Given the description of an element on the screen output the (x, y) to click on. 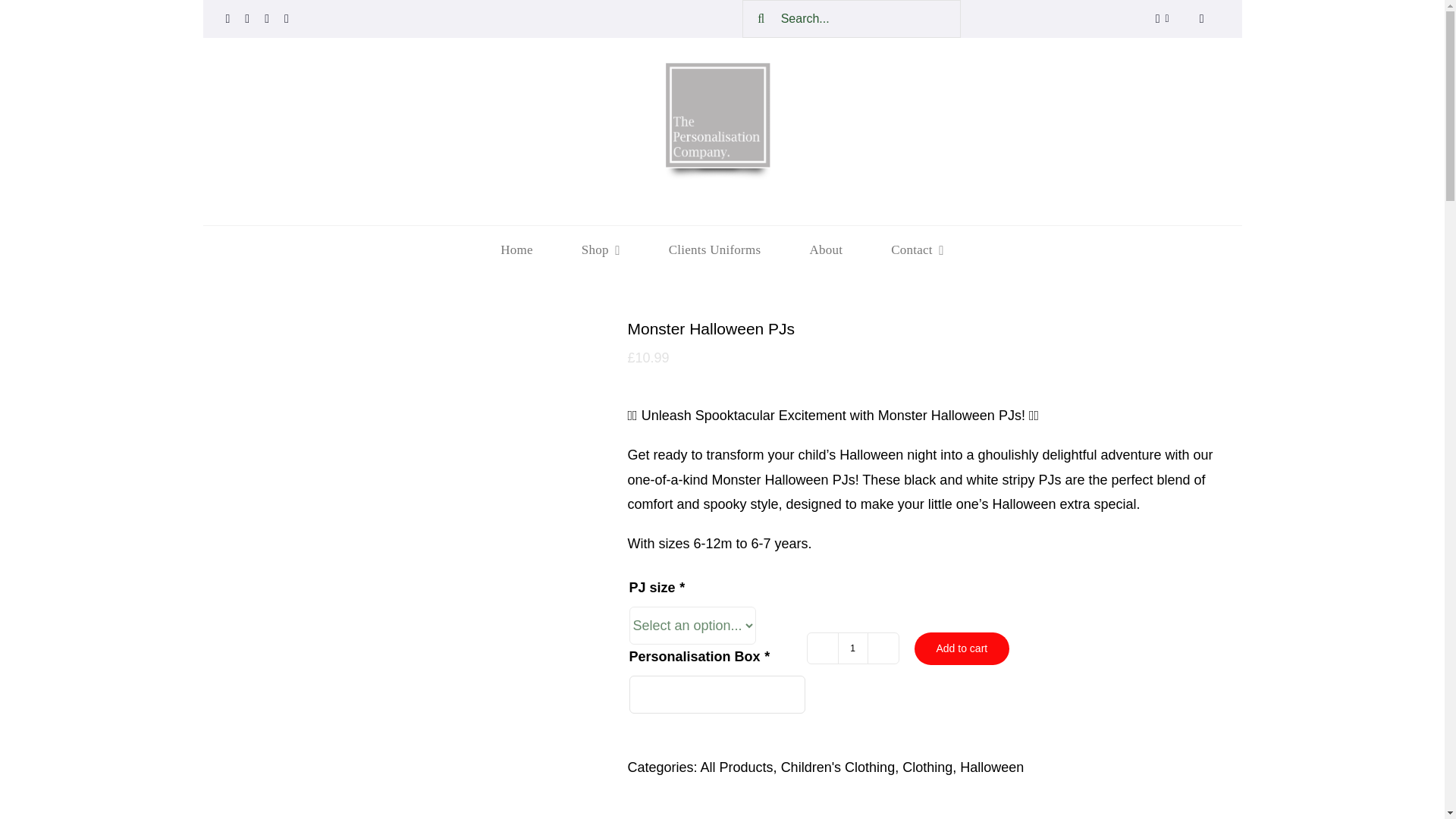
1 (852, 648)
Search for: (722, 249)
Log In (722, 18)
